Given the description of an element on the screen output the (x, y) to click on. 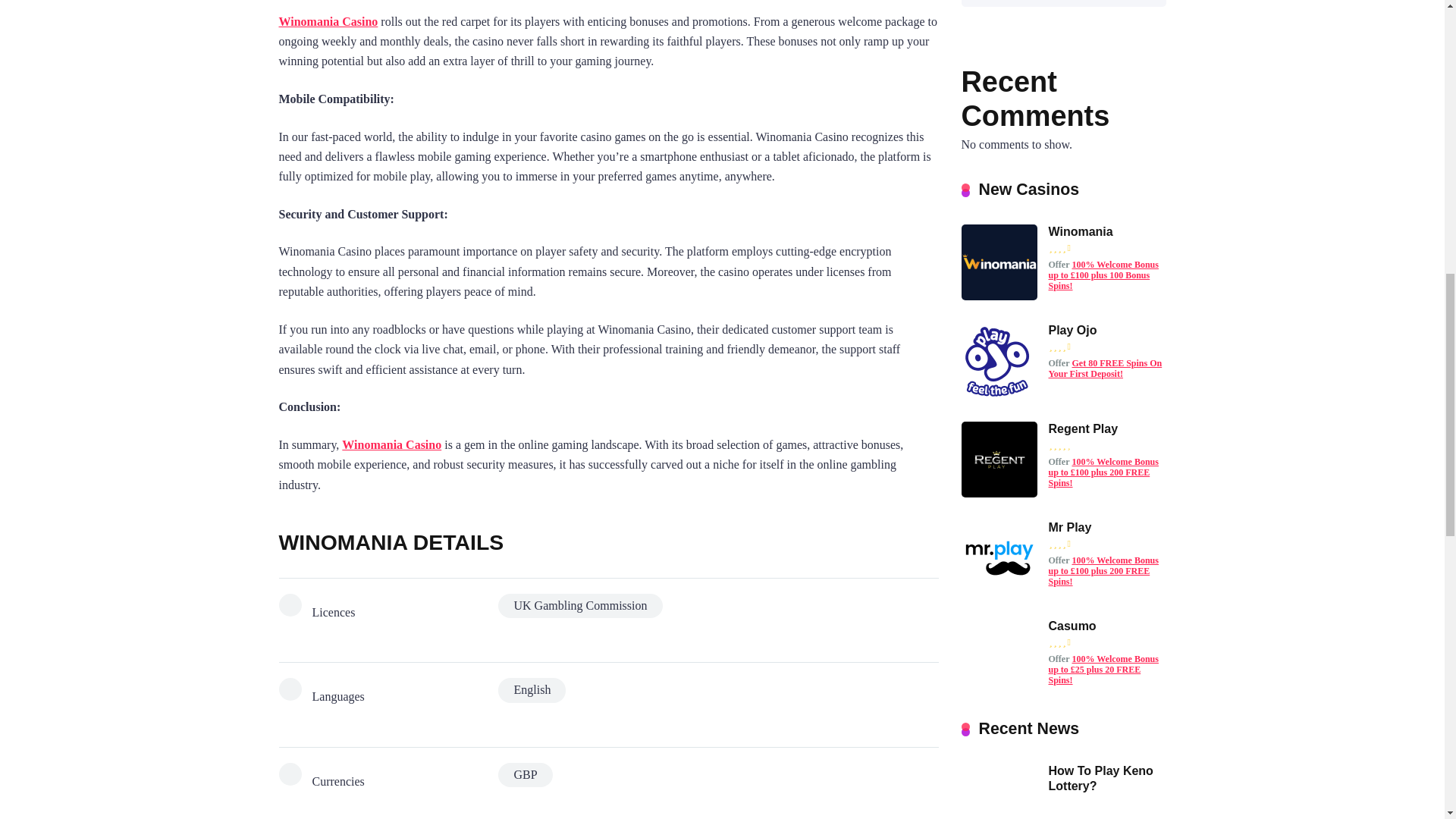
Play Ojo (998, 394)
English (531, 689)
UK Gambling Commission (579, 605)
English (531, 689)
Play Ojo (1072, 330)
Winomania (1080, 232)
Get 80 FREE Spins On Your First Deposit! (1104, 368)
GBP (524, 774)
Winomania (1080, 232)
Winomania (998, 295)
